Given the description of an element on the screen output the (x, y) to click on. 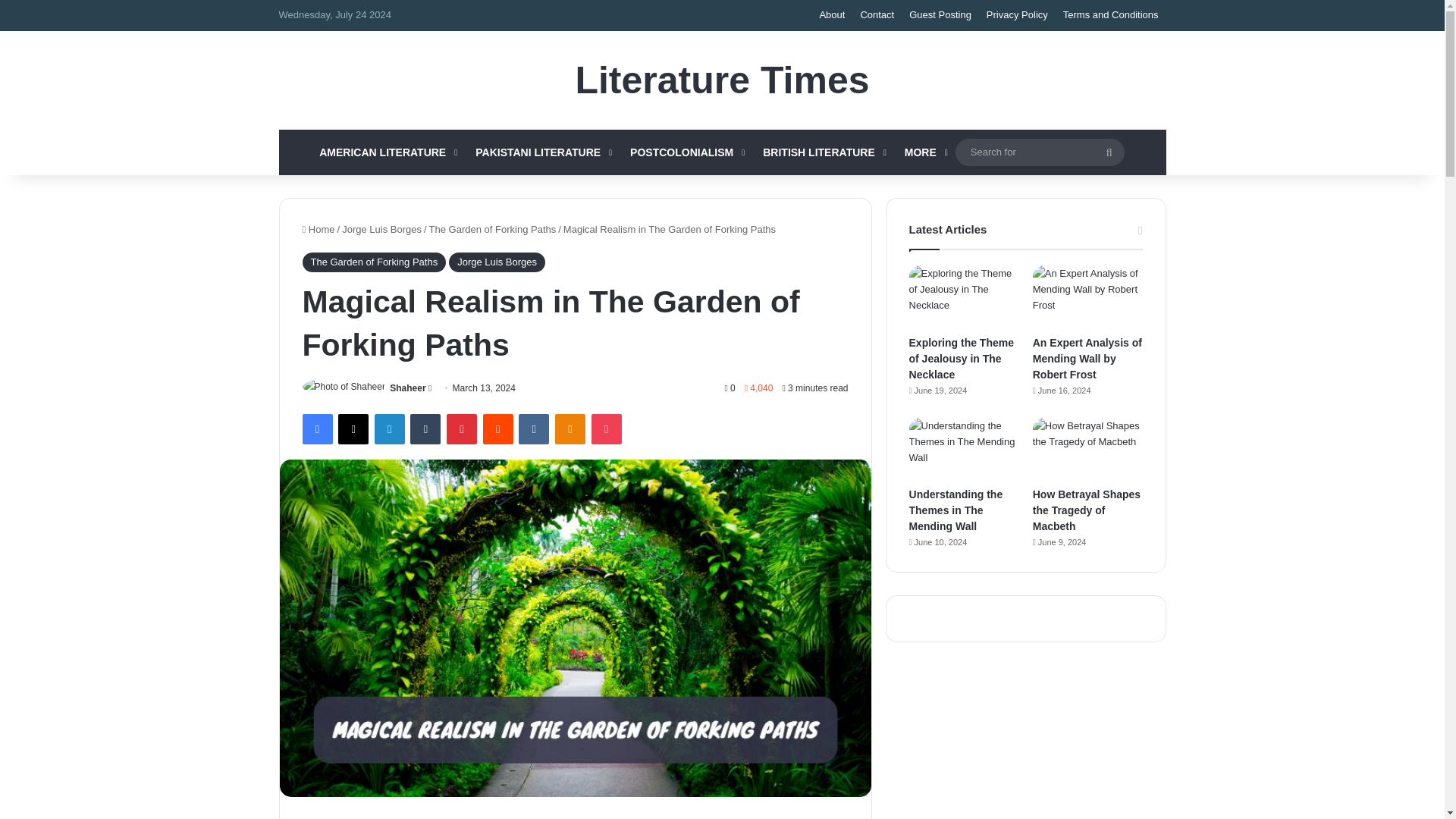
POSTCOLONIALISM (686, 152)
PAKISTANI LITERATURE (542, 152)
About (830, 15)
VKontakte (533, 429)
BRITISH LITERATURE (822, 152)
AMERICAN LITERATURE (386, 152)
Pinterest (461, 429)
Guest Posting (939, 15)
Shaheer (407, 388)
Facebook (316, 429)
X (352, 429)
Reddit (498, 429)
Contact (876, 15)
LinkedIn (389, 429)
Odnoklassniki (569, 429)
